Given the description of an element on the screen output the (x, y) to click on. 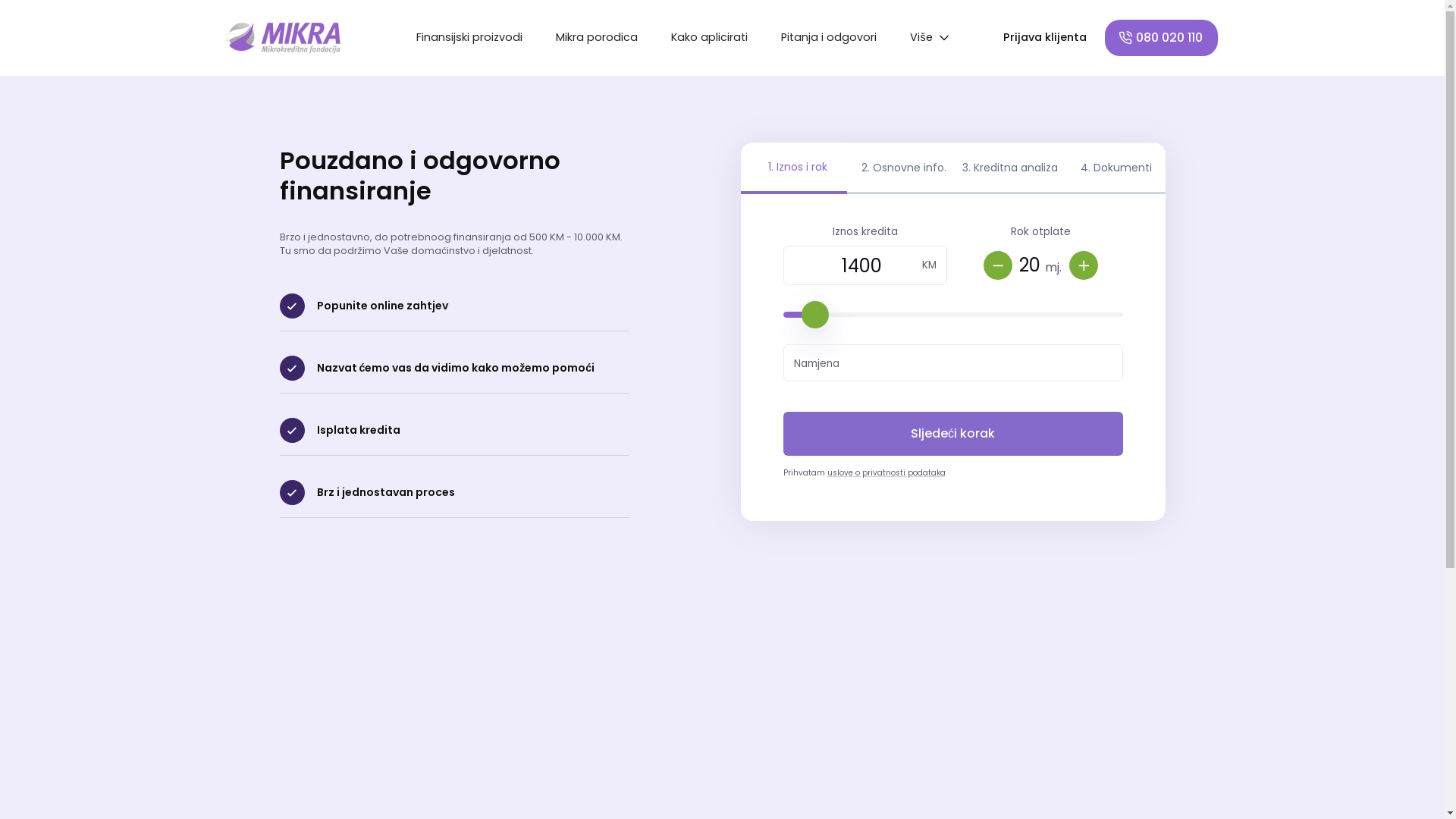
uslove o privatnosti podataka Element type: text (885, 472)
Kako aplicirati Element type: text (709, 37)
Mikra porodica Element type: text (596, 37)
Finansijski proizvodi Element type: text (469, 37)
Pitanja i odgovori Element type: text (828, 37)
Prijava klijenta Element type: text (1044, 37)
080 020 110 Element type: text (1160, 37)
